Given the description of an element on the screen output the (x, y) to click on. 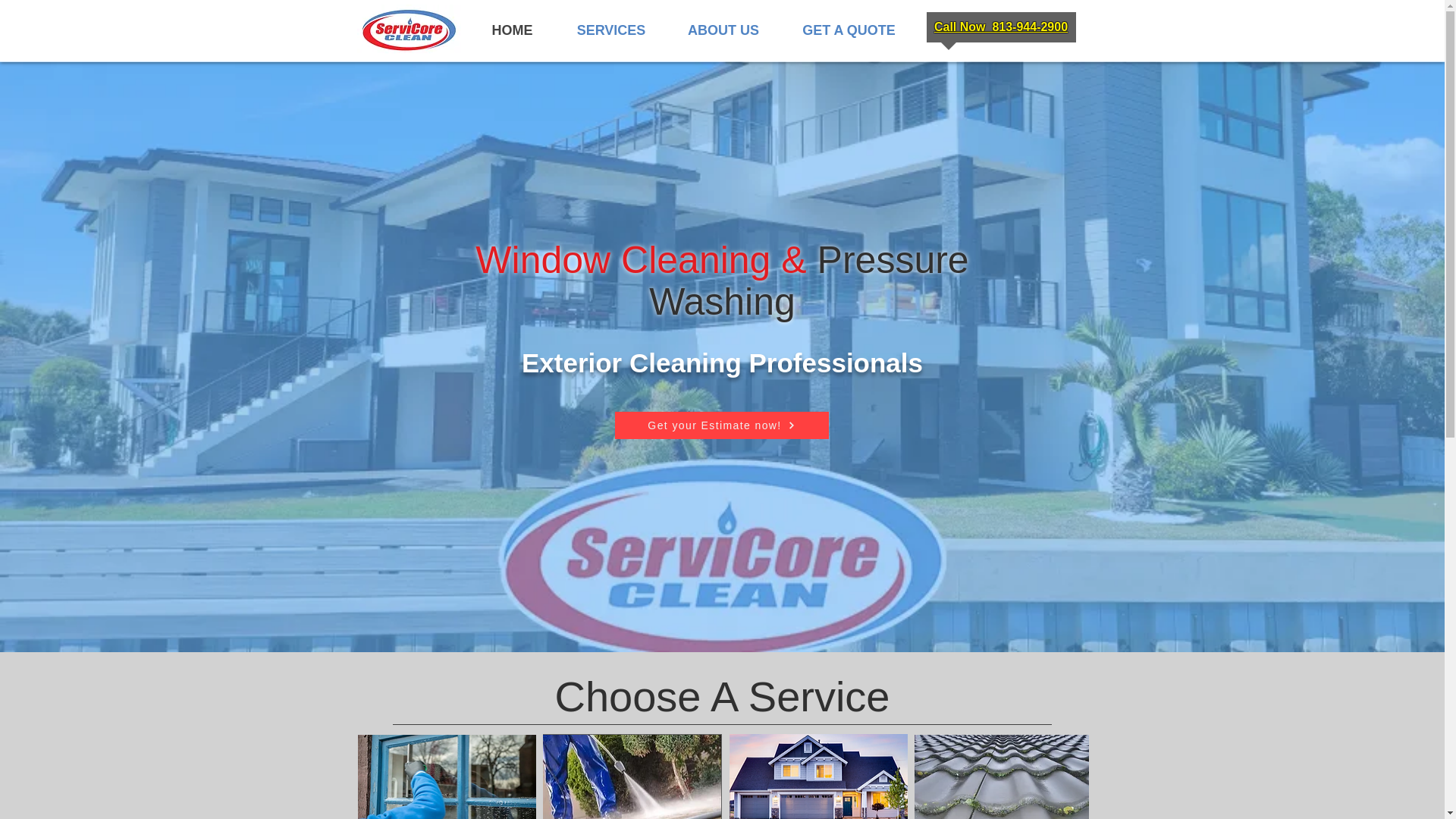
SERVICES (610, 30)
HOME (511, 30)
Get your Estimate now! (721, 424)
Call Now  813-944-2900 (1000, 26)
GET A QUOTE (847, 30)
ABOUT US (723, 30)
